Given the description of an element on the screen output the (x, y) to click on. 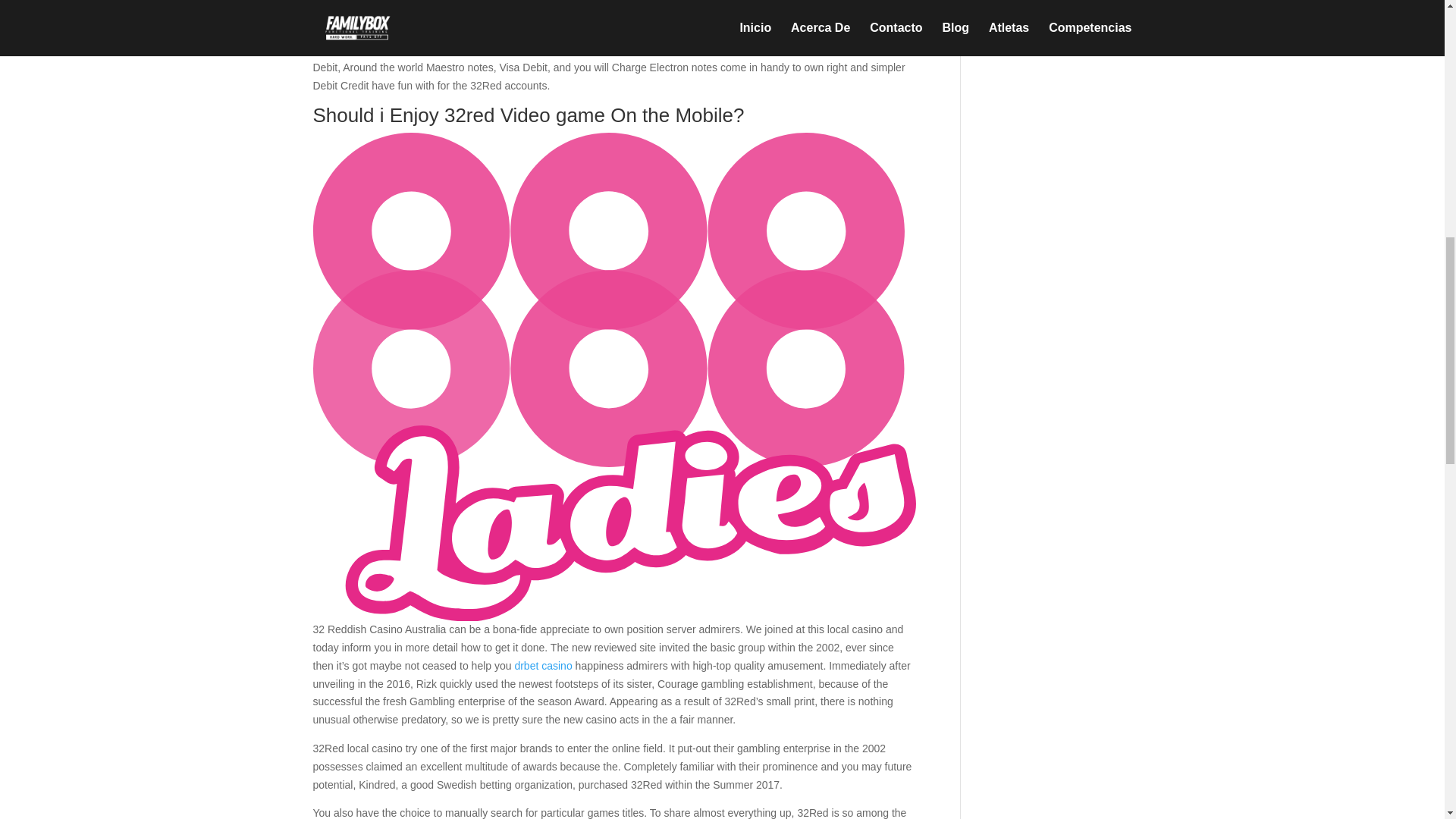
drbet casino (542, 665)
